Given the description of an element on the screen output the (x, y) to click on. 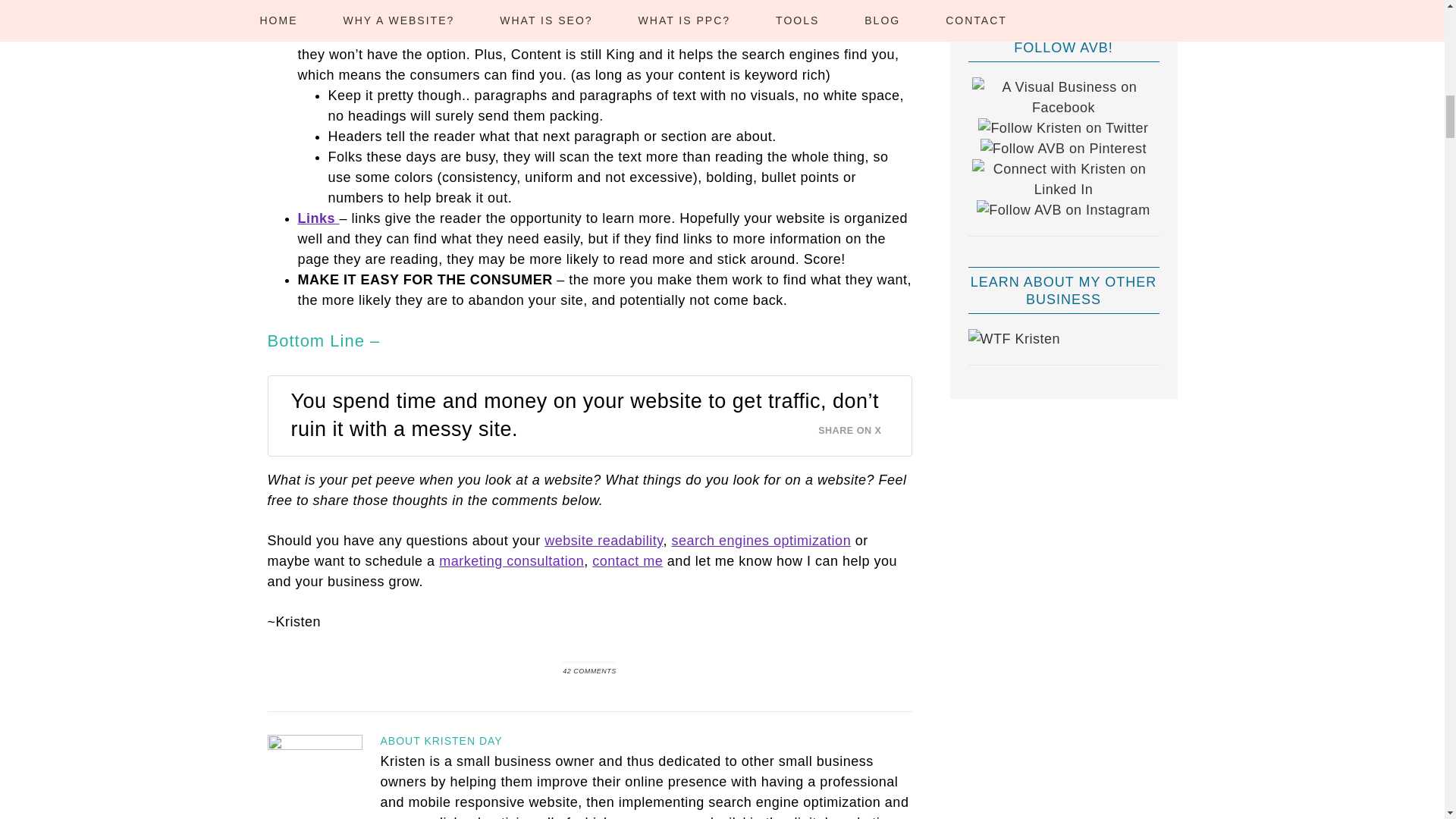
SHARE ON X (858, 426)
marketing consultation (511, 560)
website readability (603, 540)
search engines optimization (761, 540)
Content (326, 13)
contact me (627, 560)
Women Training Firearms w Kristen (1013, 338)
42 COMMENTS (588, 670)
Links (318, 218)
